Given the description of an element on the screen output the (x, y) to click on. 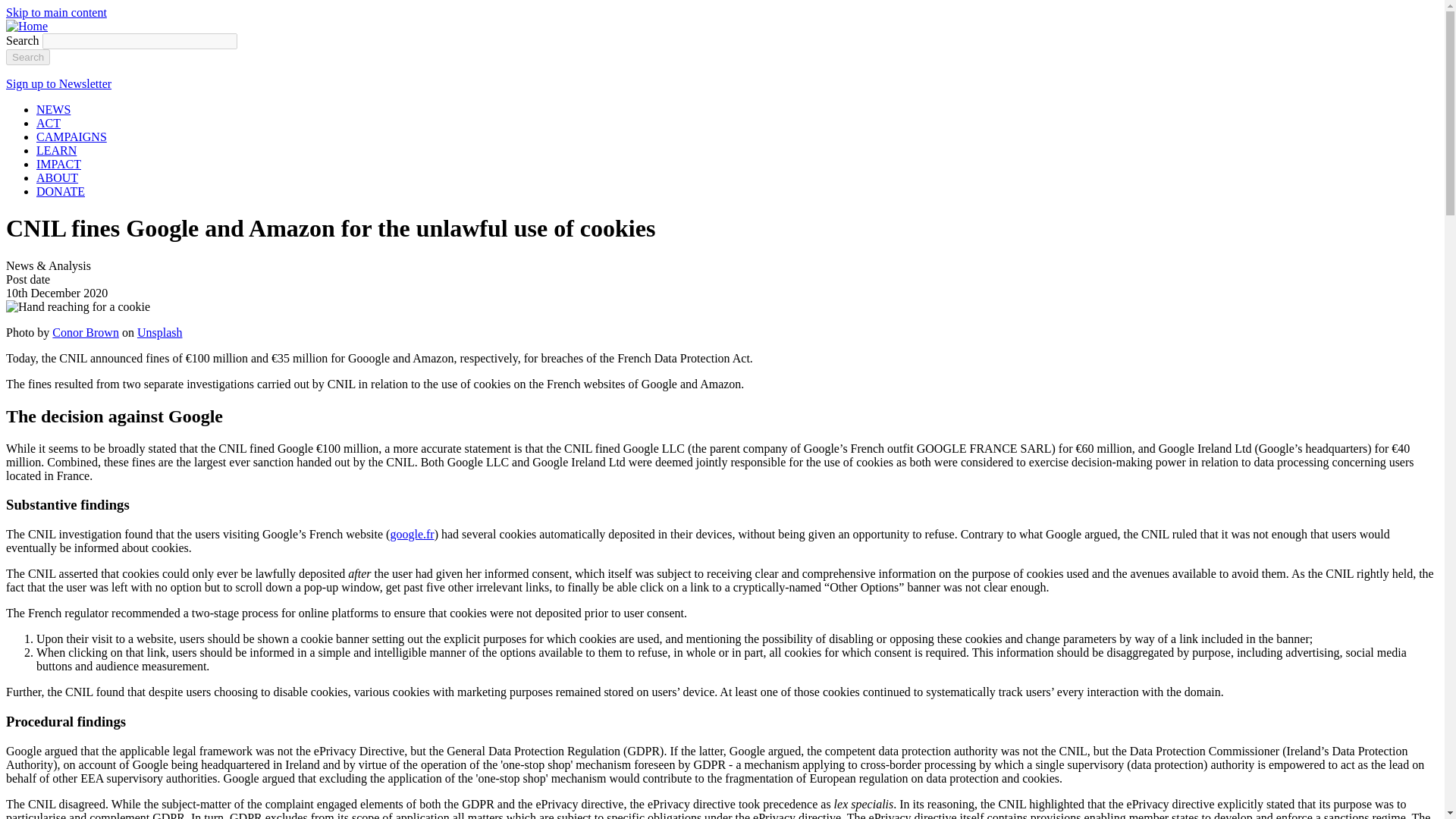
Skip to main content (55, 11)
LEARN (56, 150)
google.fr (411, 533)
Conor Brown (85, 332)
NEWS (52, 109)
CAMPAIGNS (71, 136)
ABOUT (57, 177)
Unsplash (159, 332)
Sign up to Newsletter (58, 83)
Search (27, 57)
DONATE (60, 191)
ACT (48, 123)
IMPACT (58, 164)
Search (27, 57)
